Given the description of an element on the screen output the (x, y) to click on. 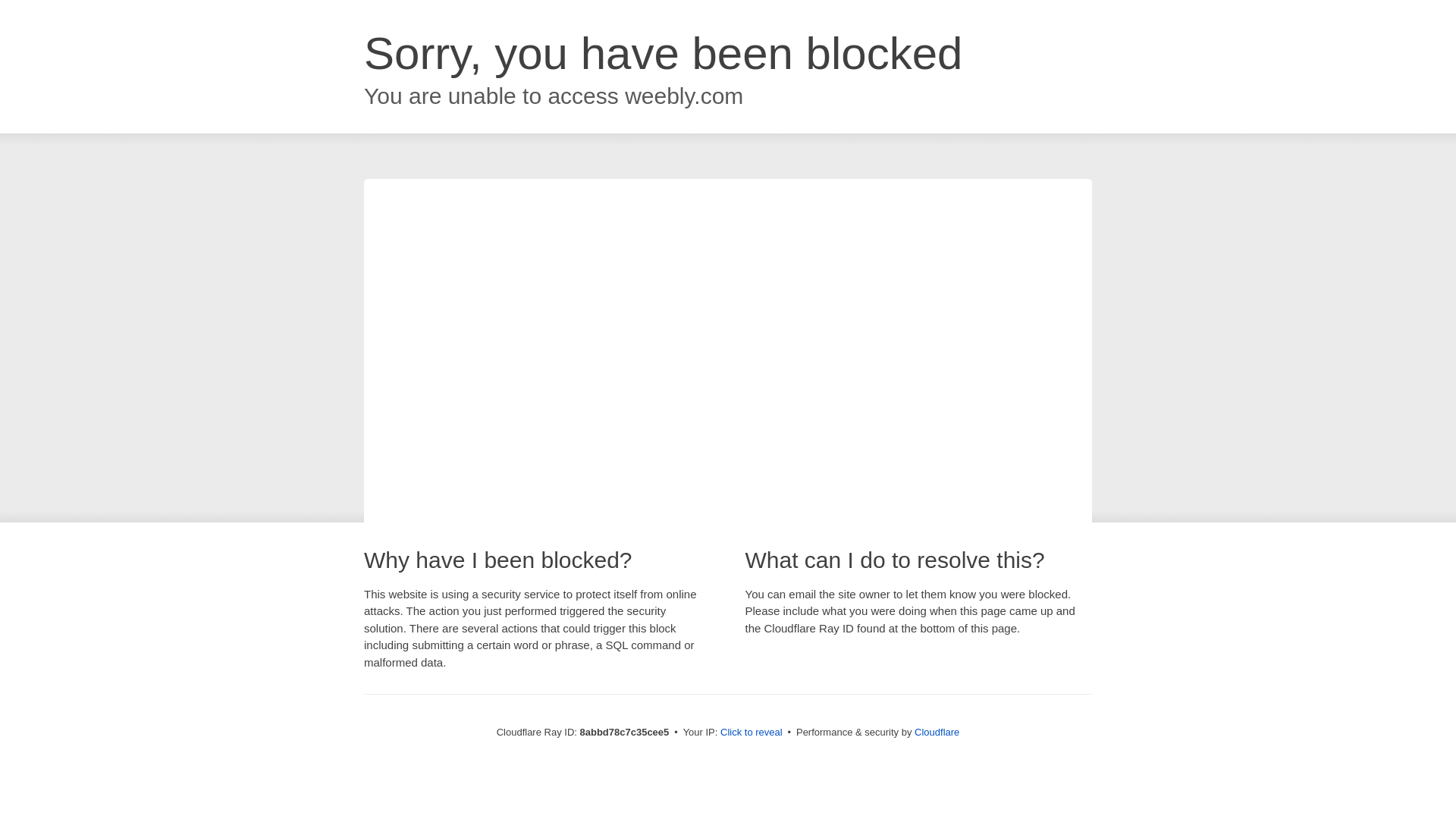
Click to reveal (751, 732)
Cloudflare (936, 731)
